Given the description of an element on the screen output the (x, y) to click on. 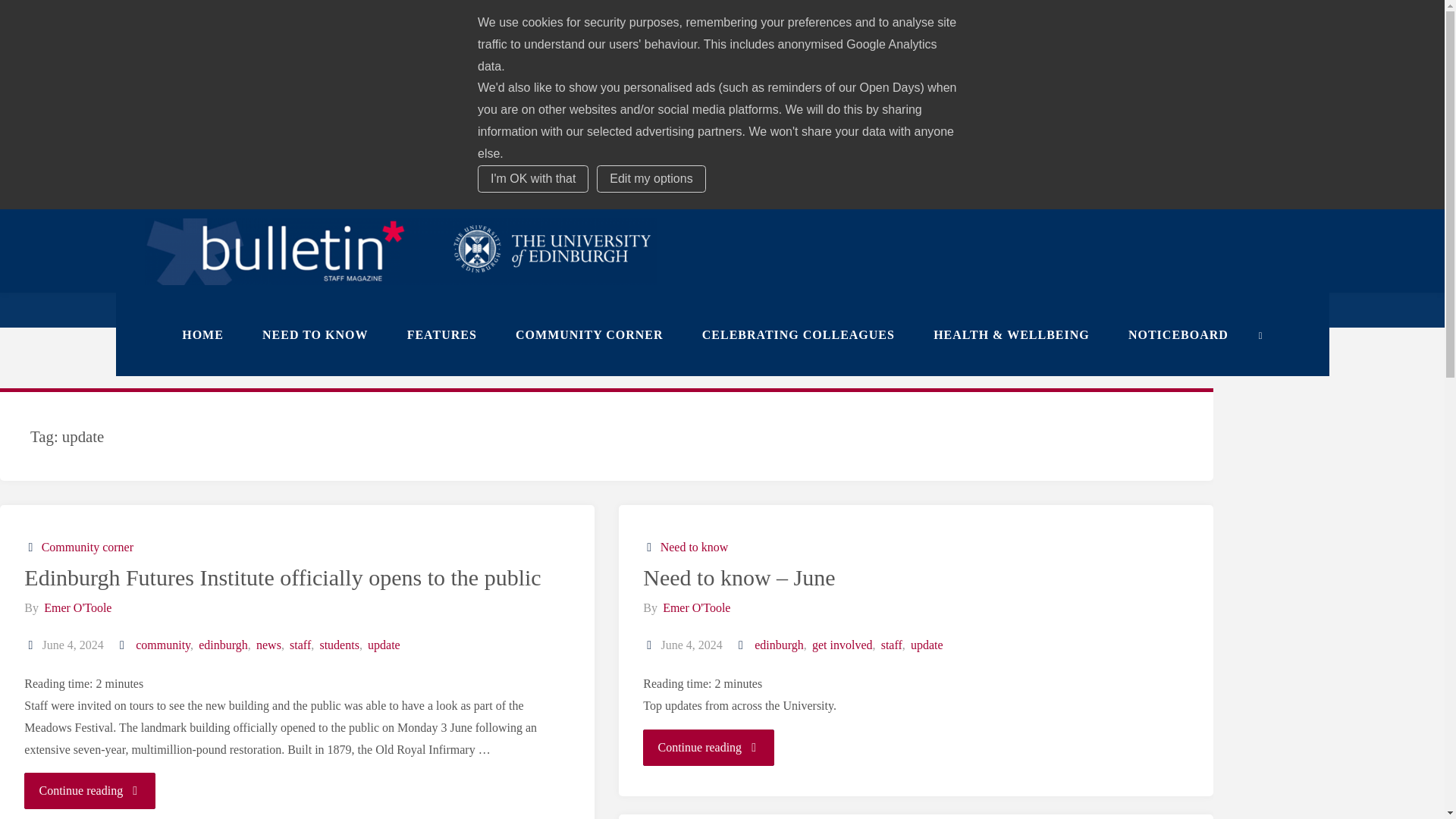
CELEBRATING COLLEAGUES (798, 333)
staff (298, 644)
Need to know (693, 546)
Emer O'Toole (77, 607)
I'm OK with that (532, 178)
update (382, 644)
NEED TO KNOW (315, 333)
Bulletin (401, 250)
edinburgh (777, 644)
edinburgh (221, 644)
Categories (31, 546)
FEATURES (441, 333)
Date (650, 644)
View all posts by Emer O'Toole (77, 607)
Tagged (742, 644)
